Given the description of an element on the screen output the (x, y) to click on. 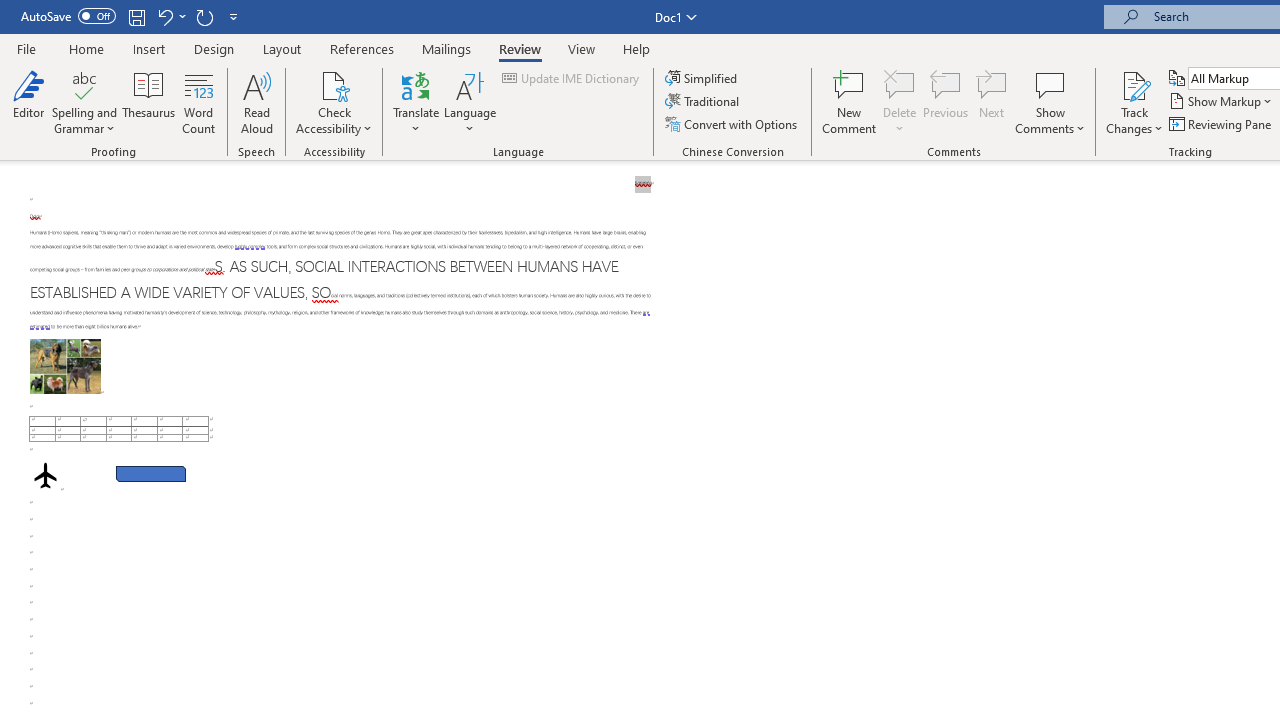
Track Changes (1134, 84)
Previous (946, 102)
Home (86, 48)
Convert with Options... (732, 124)
Review (520, 48)
References (362, 48)
Save (136, 15)
Rectangle: Diagonal Corners Snipped 2 (150, 473)
New Comment (849, 102)
Customize Quick Access Toolbar (234, 15)
Layout (282, 48)
Show Markup (1222, 101)
Morphological variation in six dogs (65, 366)
Delete (900, 84)
